Given the description of an element on the screen output the (x, y) to click on. 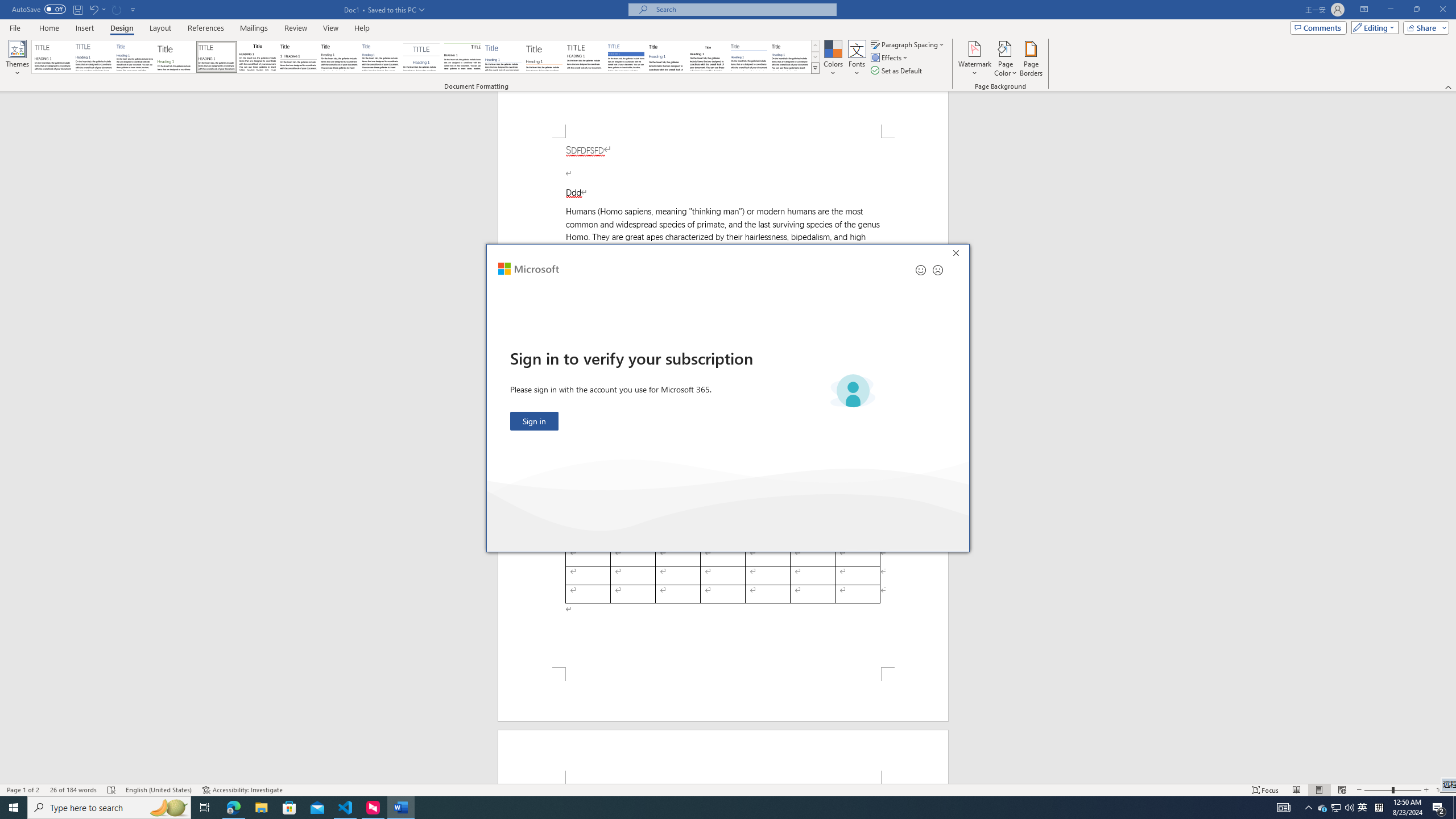
Paragraph Spacing (908, 44)
Notification Chevron (1308, 807)
Type here to search (108, 807)
Colors (832, 58)
Black & White (Word 2013) (338, 56)
Basic (Stylish) (175, 56)
Page Number Page 1 of 2 (22, 790)
